Given the description of an element on the screen output the (x, y) to click on. 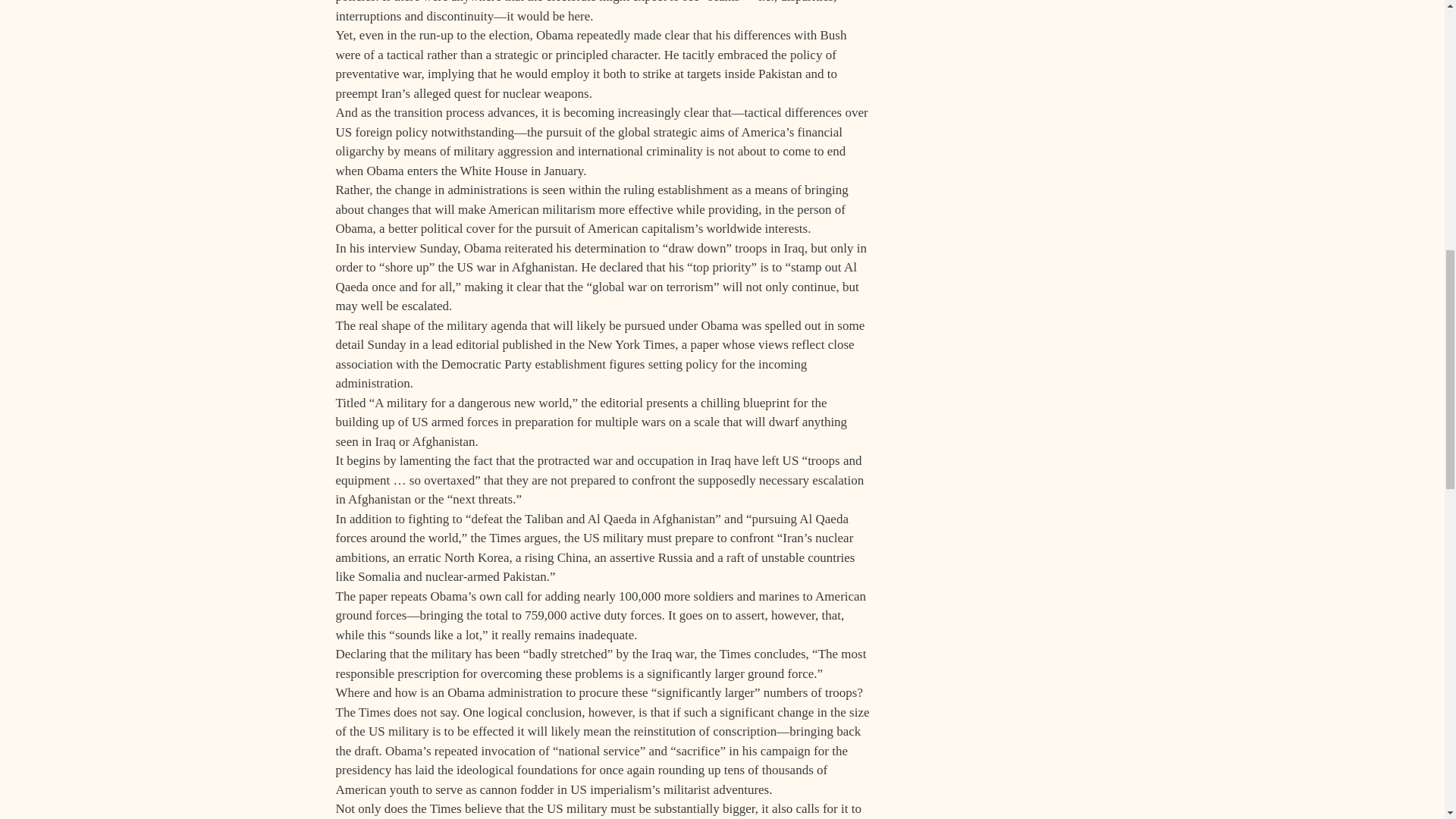
Scroll back to top (1406, 720)
